Given the description of an element on the screen output the (x, y) to click on. 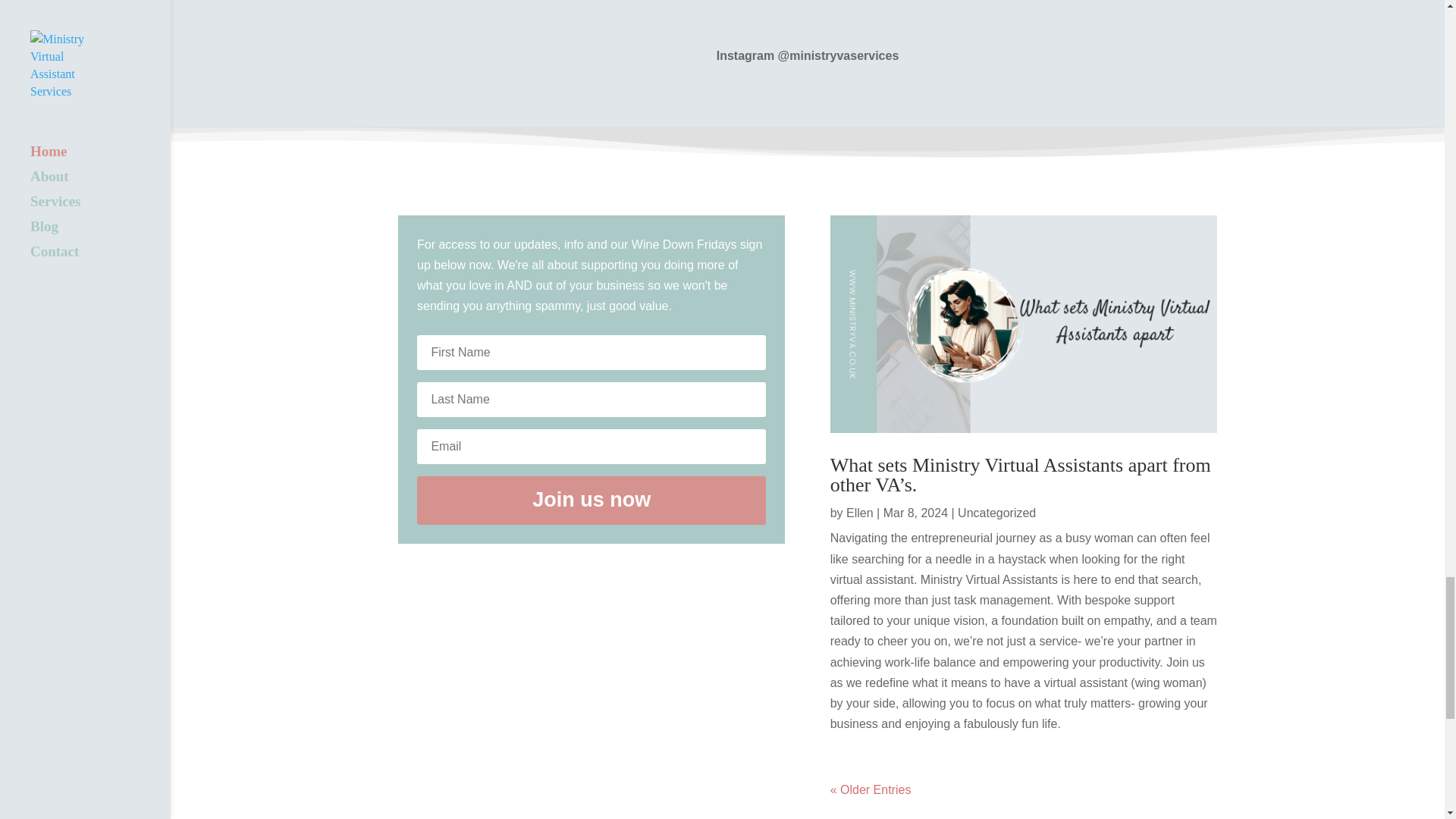
IG Grid (512, 11)
Ellen (859, 512)
Posts by Ellen (859, 512)
Join us now (590, 499)
Uncategorized (996, 512)
